Given the description of an element on the screen output the (x, y) to click on. 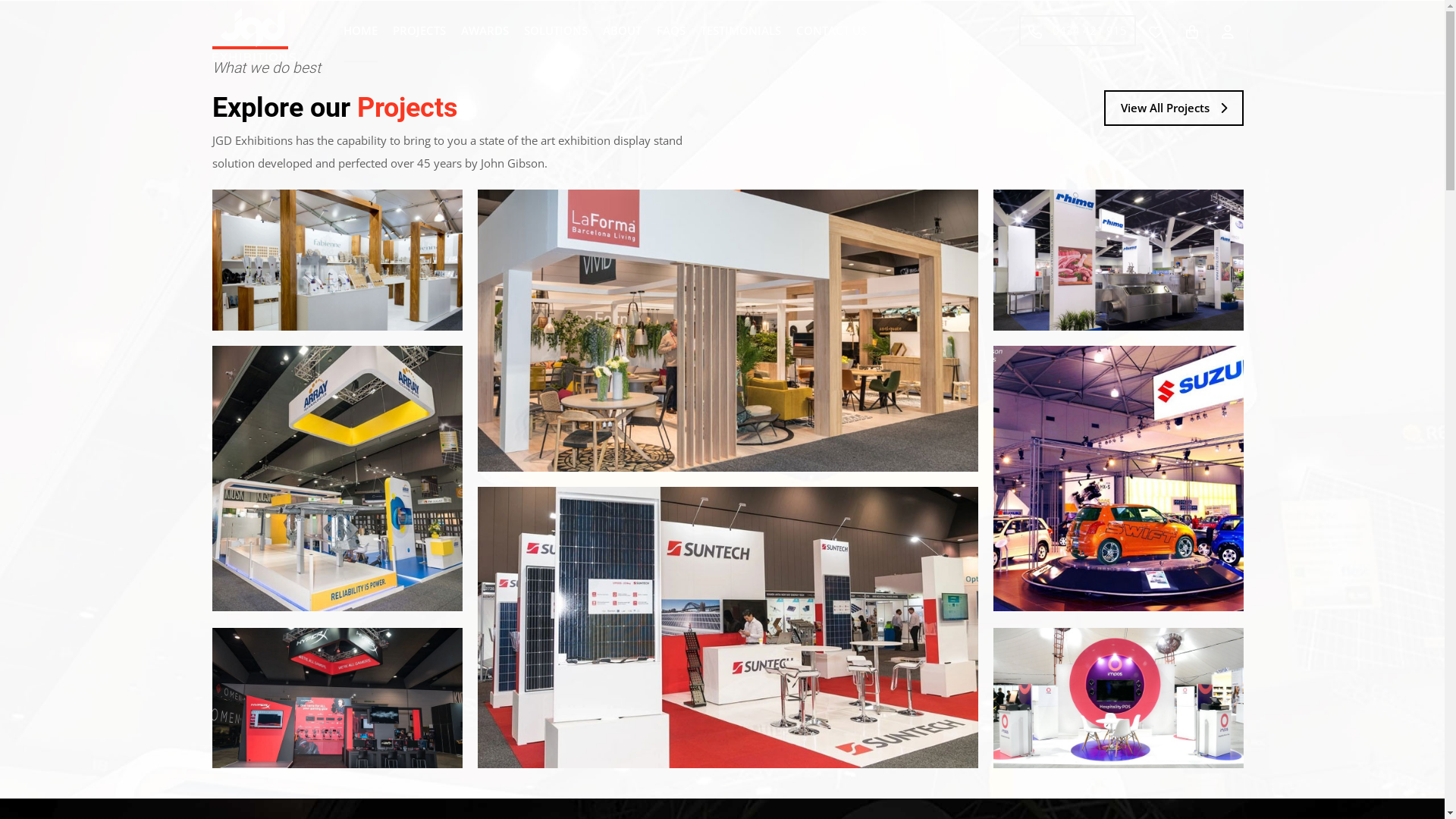
FAQS Element type: text (670, 30)
JGD Exhibitions Element type: hover (253, 32)
View All Projects Element type: text (1173, 107)
SOLUTIONS Element type: text (554, 30)
HOME Element type: text (359, 31)
JGD Exhibitions Element type: hover (253, 34)
CONTACT US Element type: text (831, 30)
ABOUT Element type: text (621, 30)
PROJECTS Element type: text (418, 30)
TESTIMONIALS Element type: text (740, 30)
0434 421 915 Element type: text (1077, 29)
AWARDS Element type: text (484, 30)
